Given the description of an element on the screen output the (x, y) to click on. 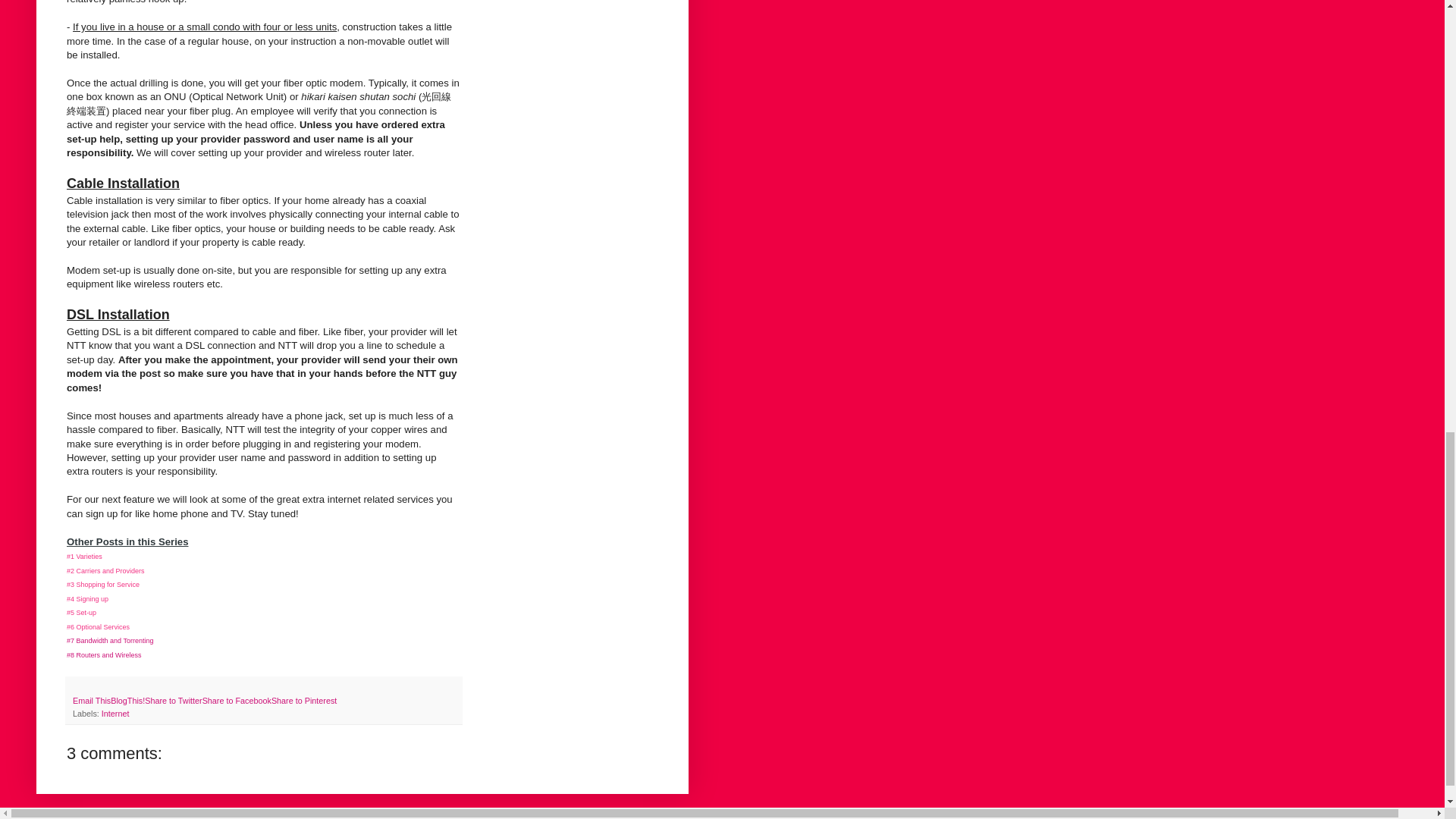
Internet (115, 713)
Share to Facebook (236, 700)
Share to Pinterest (303, 700)
BlogThis! (127, 700)
Email This (91, 700)
BlogThis! (127, 700)
Share to Twitter (173, 700)
Share to Facebook (236, 700)
Email Post (78, 686)
Share to Twitter (173, 700)
